Given the description of an element on the screen output the (x, y) to click on. 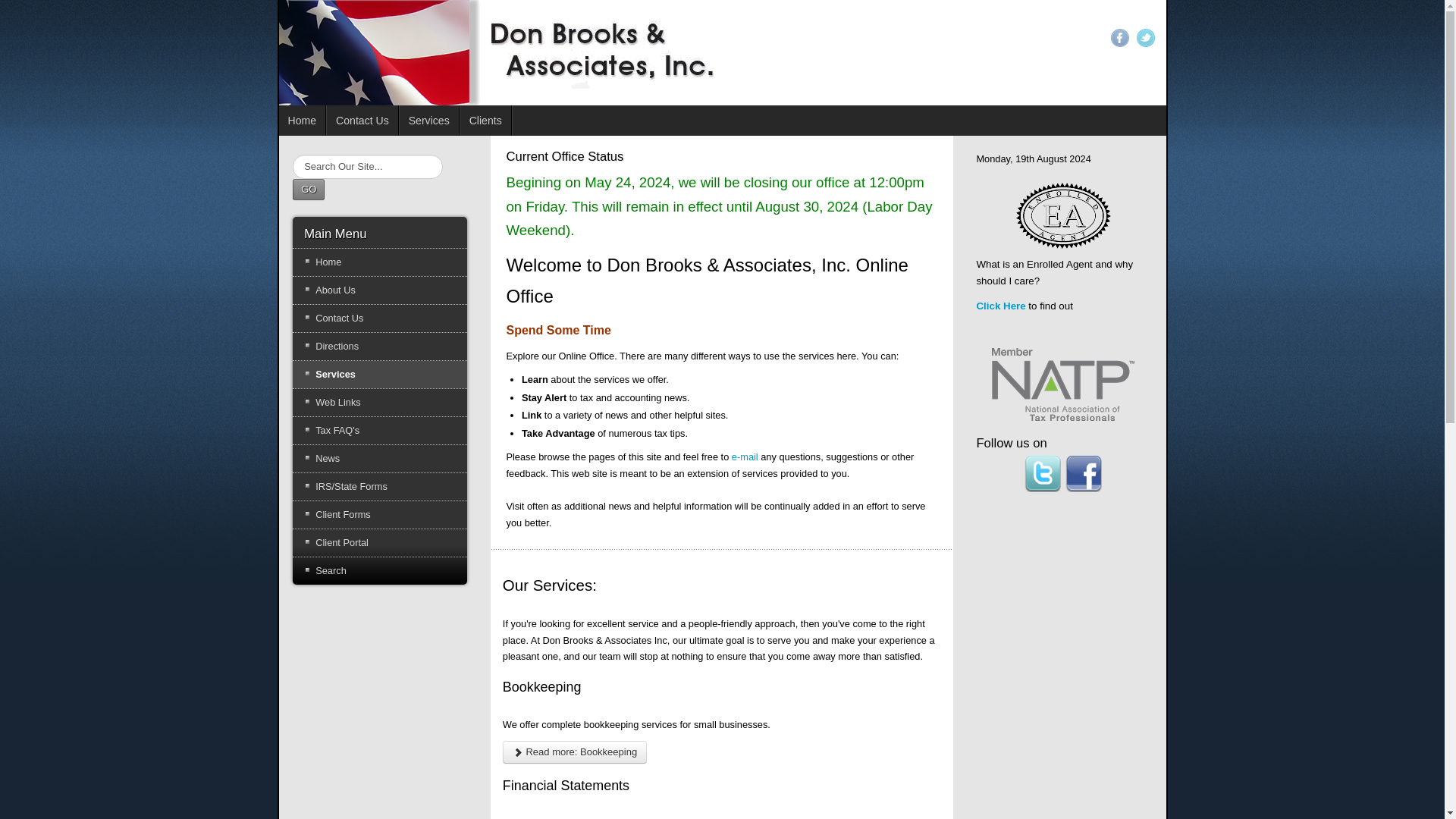
Directions (379, 346)
Web Links (379, 402)
About Us (379, 289)
Search (379, 570)
Client Portal (379, 542)
Facebook (1118, 37)
GO (308, 189)
Contact Us (362, 120)
e-mail (745, 456)
